Given the description of an element on the screen output the (x, y) to click on. 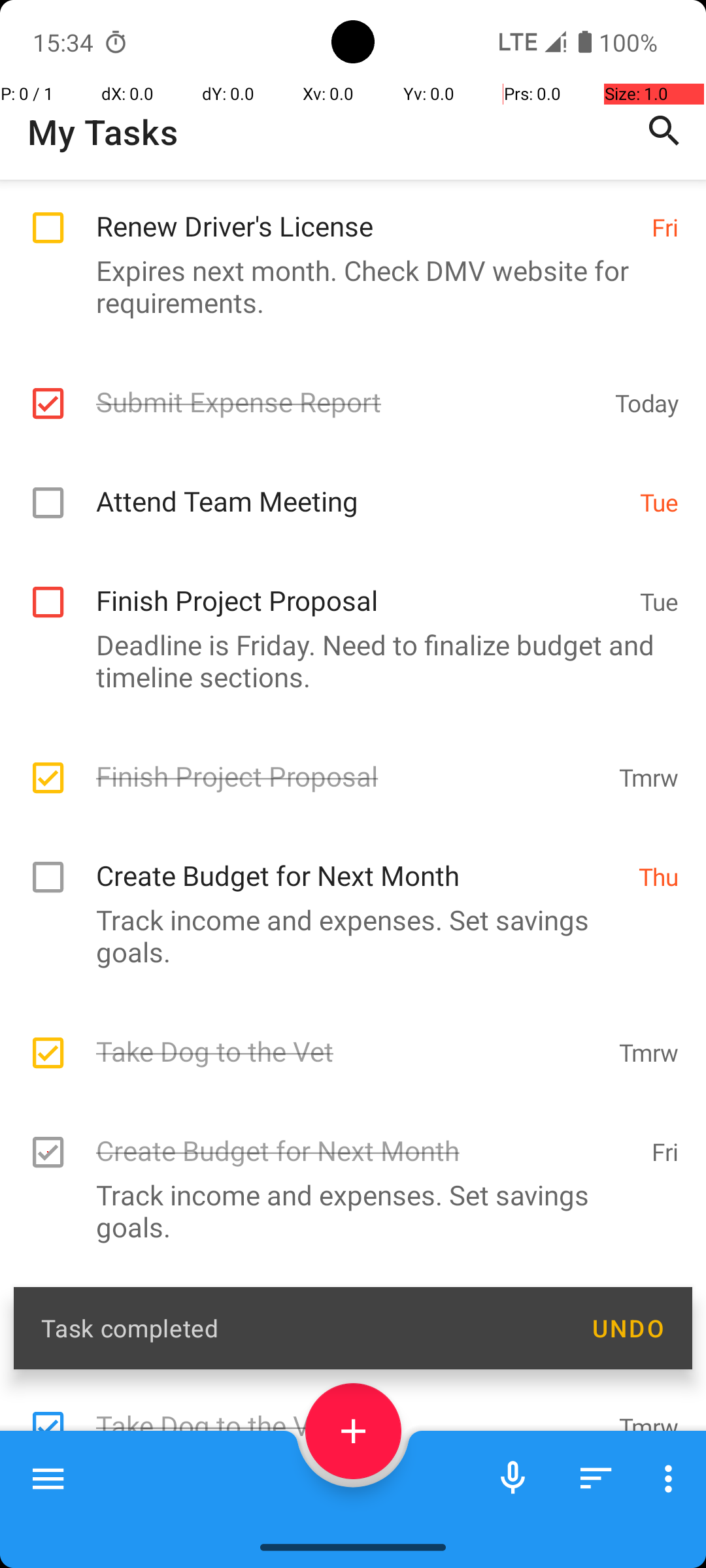
Task completed Element type: android.widget.TextView (302, 1327)
UNDO Element type: android.widget.Button (627, 1328)
Expires next month. Check DMV website for requirements. Element type: android.widget.TextView (346, 285)
Deadline is Friday. Need to finalize budget and timeline sections. Element type: android.widget.TextView (346, 660)
